Given the description of an element on the screen output the (x, y) to click on. 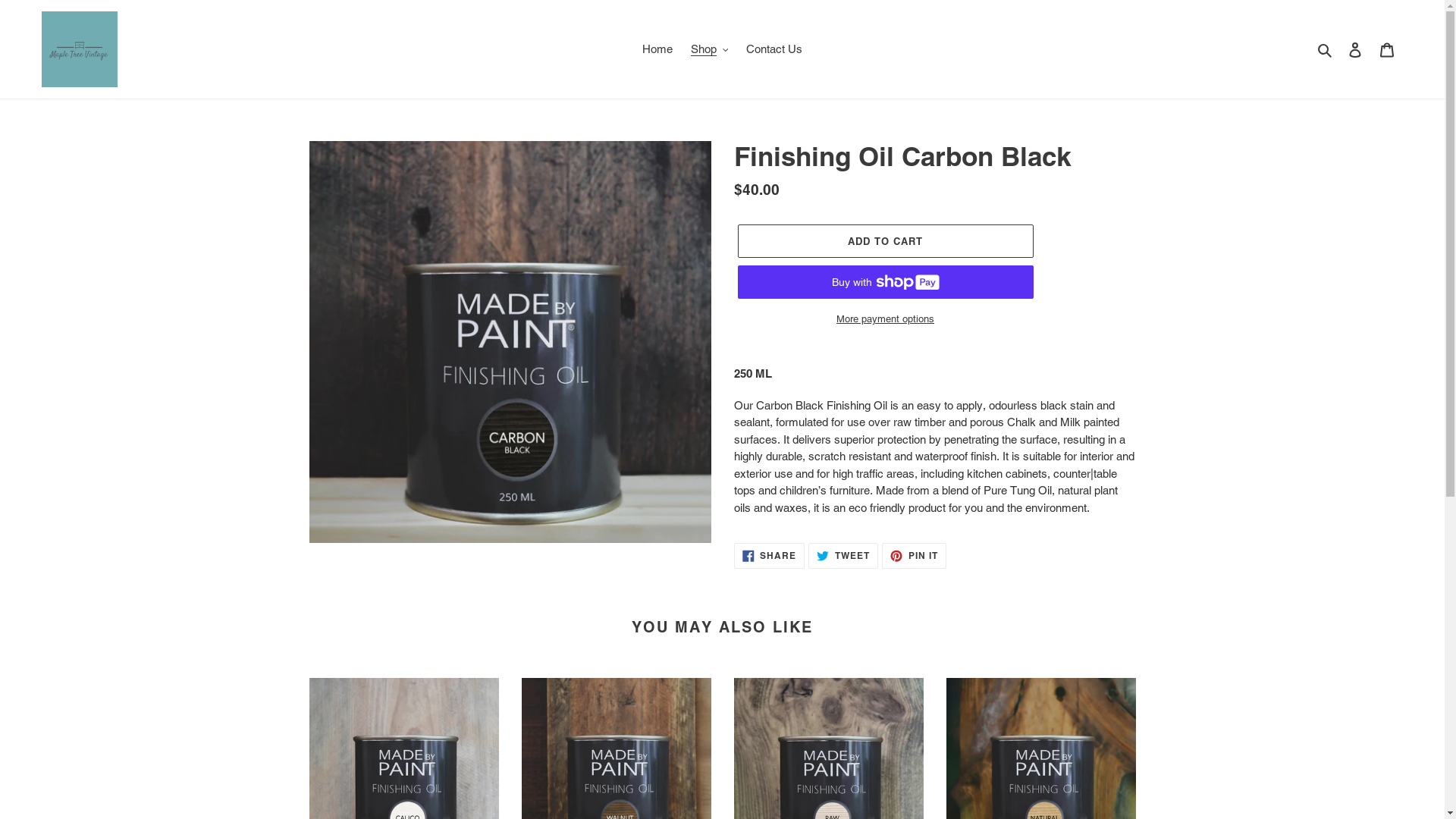
Home Element type: text (657, 49)
ADD TO CART Element type: text (884, 240)
PIN IT
PIN ON PINTEREST Element type: text (913, 555)
SHARE
SHARE ON FACEBOOK Element type: text (769, 555)
Log in Element type: text (1355, 49)
More payment options Element type: text (884, 318)
Shop Element type: text (709, 49)
TWEET
TWEET ON TWITTER Element type: text (843, 555)
Cart Element type: text (1386, 49)
Contact Us Element type: text (773, 49)
Search Element type: text (1325, 49)
